Given the description of an element on the screen output the (x, y) to click on. 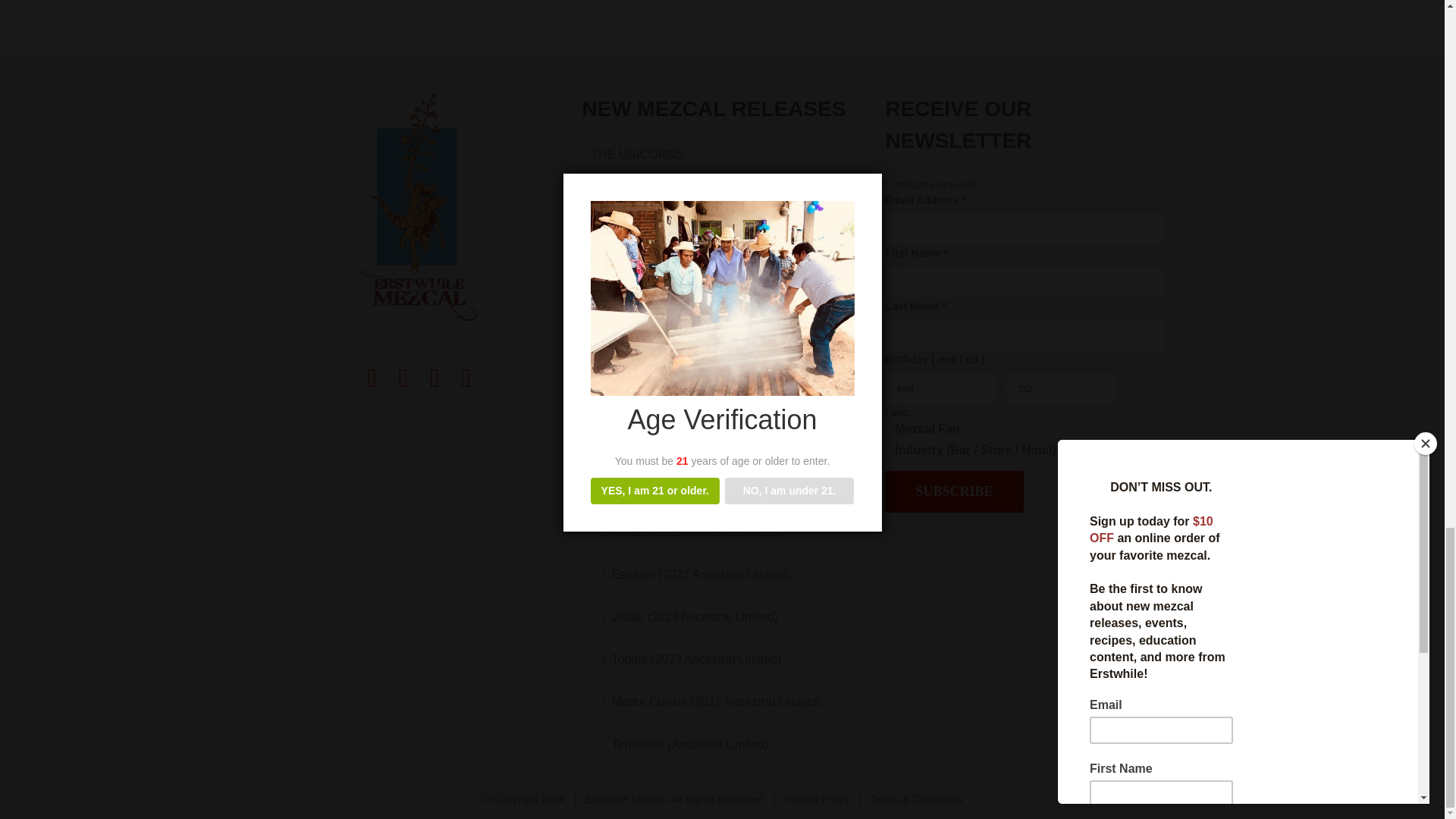
2 (890, 452)
Subscribe (954, 491)
1 (890, 430)
